Given the description of an element on the screen output the (x, y) to click on. 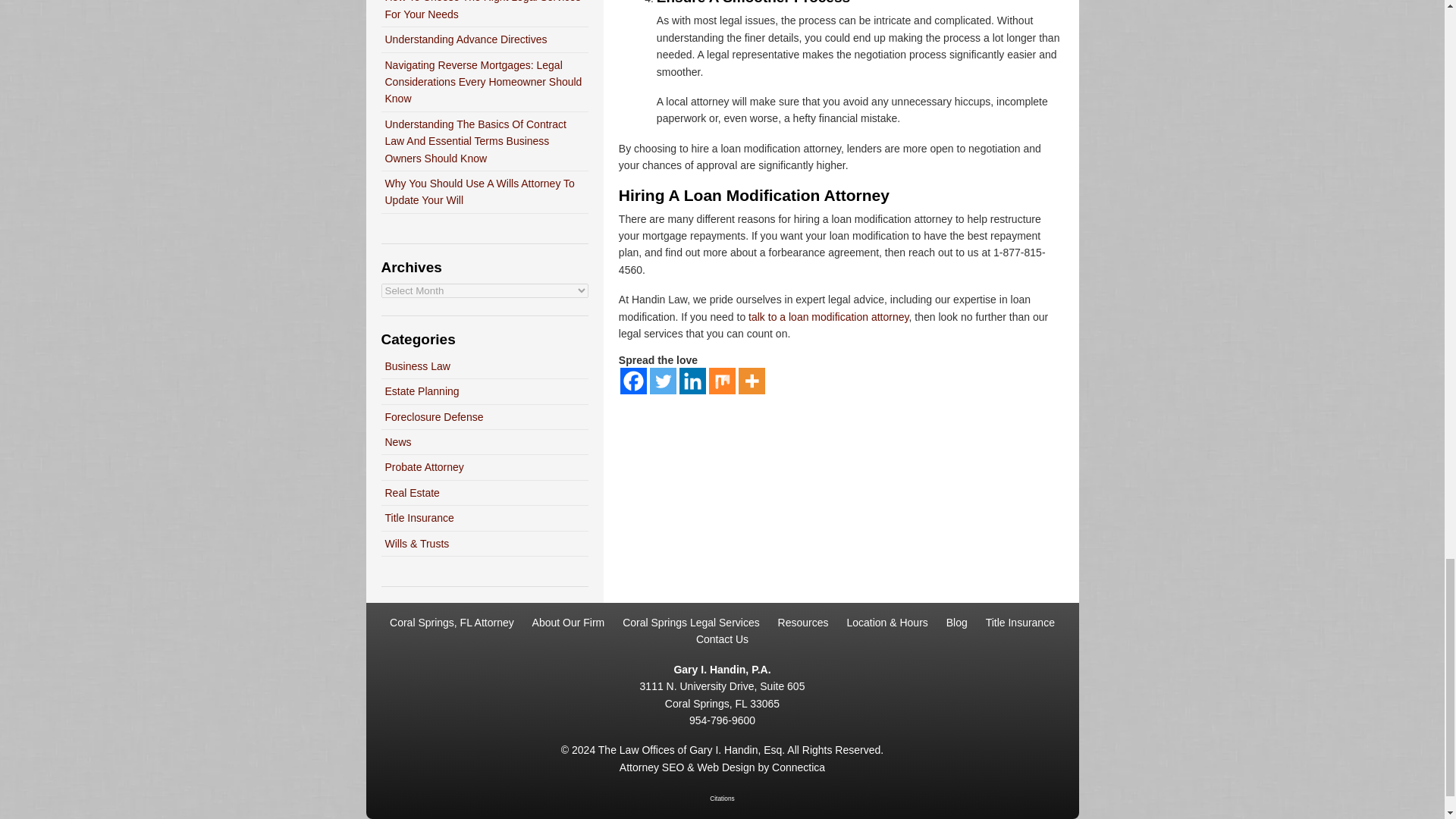
Foreclosure Defense (434, 417)
News (398, 441)
Mix (722, 380)
Twitter (663, 380)
Linkedin (692, 380)
Facebook (633, 380)
Why You Should Use A Wills Attorney To Update Your Will (480, 191)
Estate Planning (422, 390)
